Given the description of an element on the screen output the (x, y) to click on. 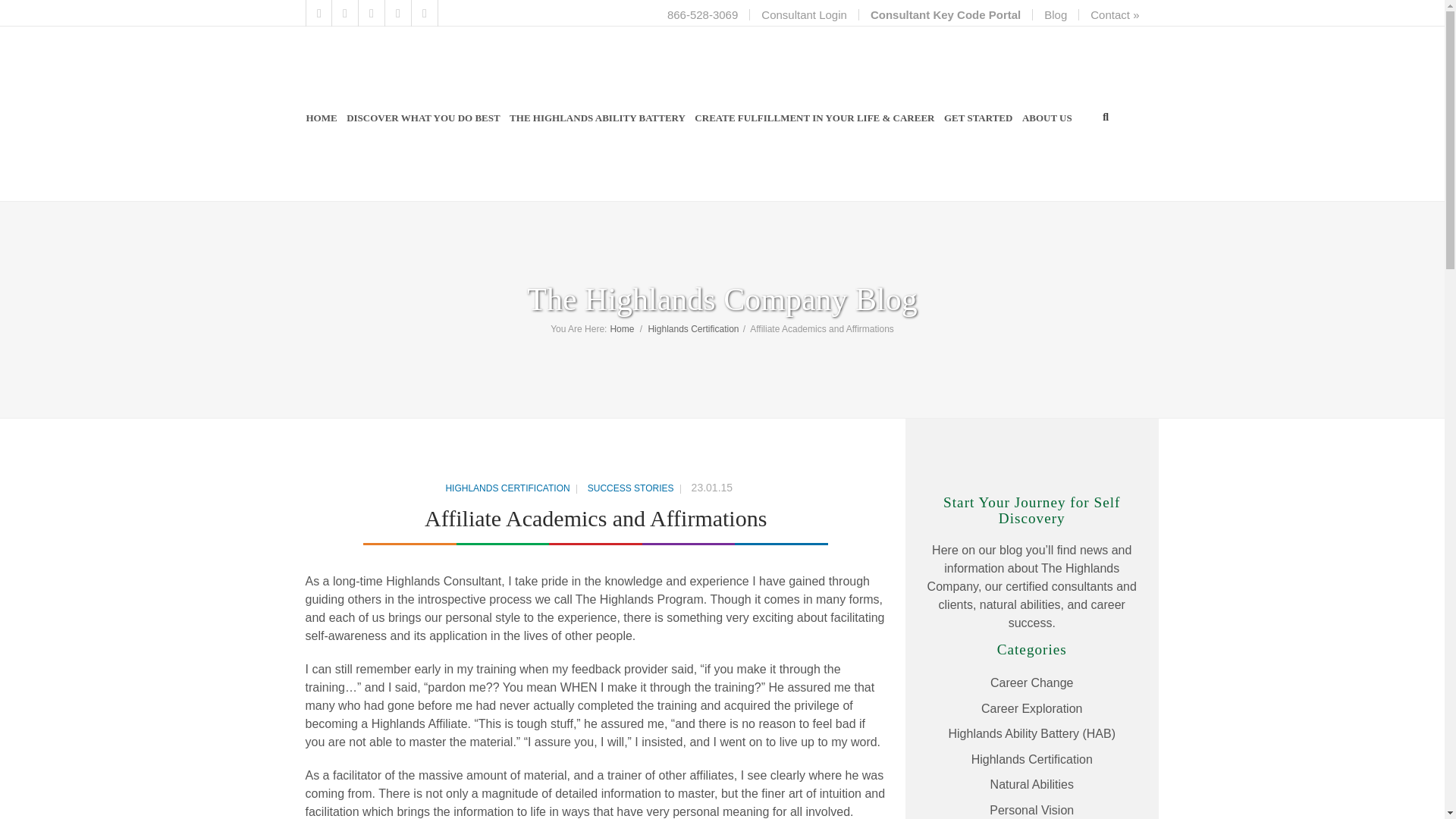
Facebook (344, 13)
Consultant Login (804, 14)
HOME (320, 117)
Vimeo (398, 13)
LinkedIn (371, 13)
Consultant Key Code Portal (945, 14)
Instgram (424, 13)
Twitter (319, 13)
DISCOVER WHAT YOU DO BEST (423, 117)
THE HIGHLANDS ABILITY BATTERY (596, 117)
